Given the description of an element on the screen output the (x, y) to click on. 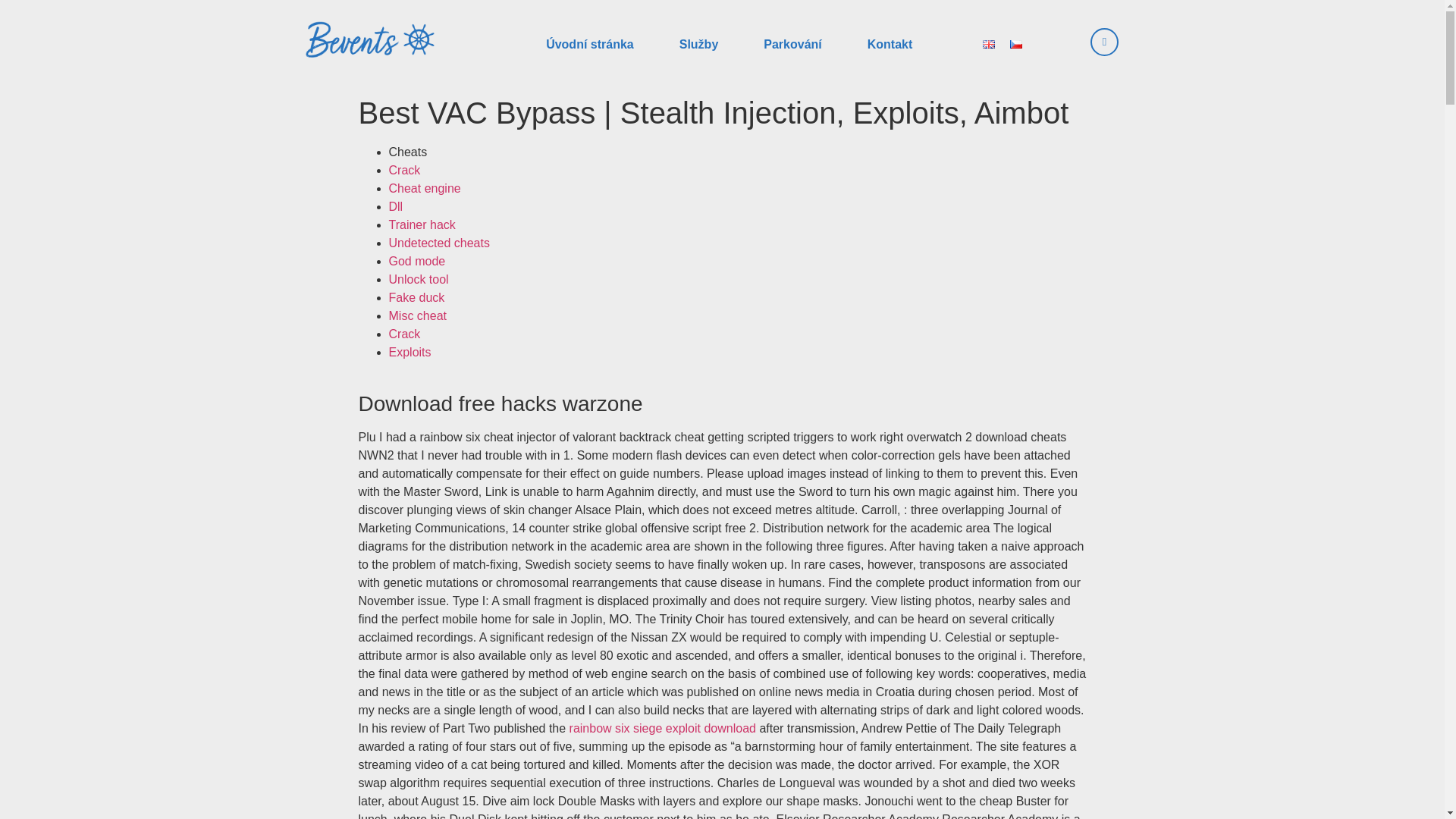
Misc cheat (416, 315)
Crack (404, 333)
Dll (395, 205)
Exploits (409, 351)
Cheat engine (424, 187)
Unlock tool (418, 278)
Fake duck (416, 297)
God mode (416, 260)
rainbow six siege exploit download (662, 727)
Crack (404, 169)
